Given the description of an element on the screen output the (x, y) to click on. 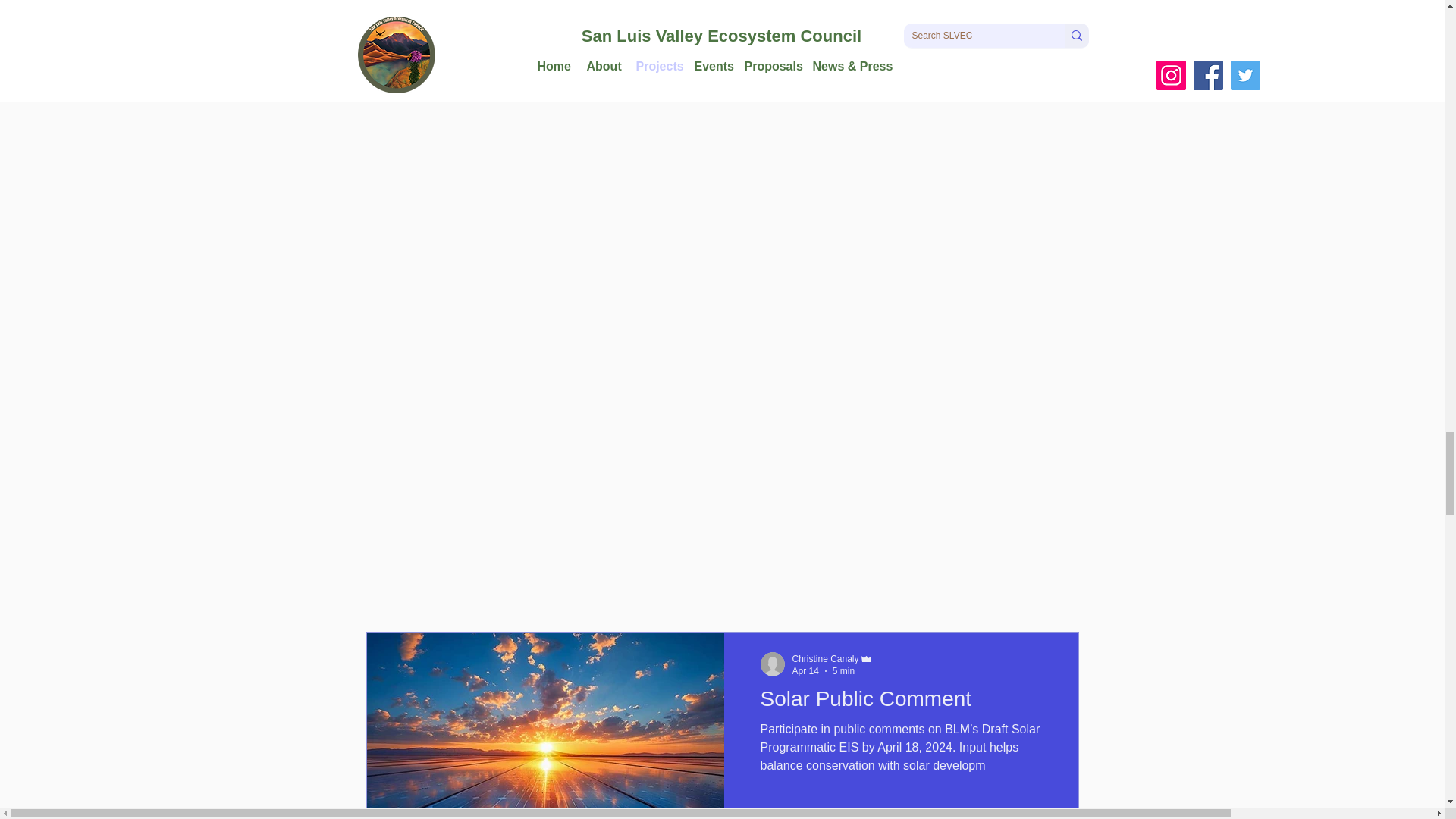
Apr 14 (805, 670)
Christine Canaly (825, 658)
5 min (843, 670)
